Given the description of an element on the screen output the (x, y) to click on. 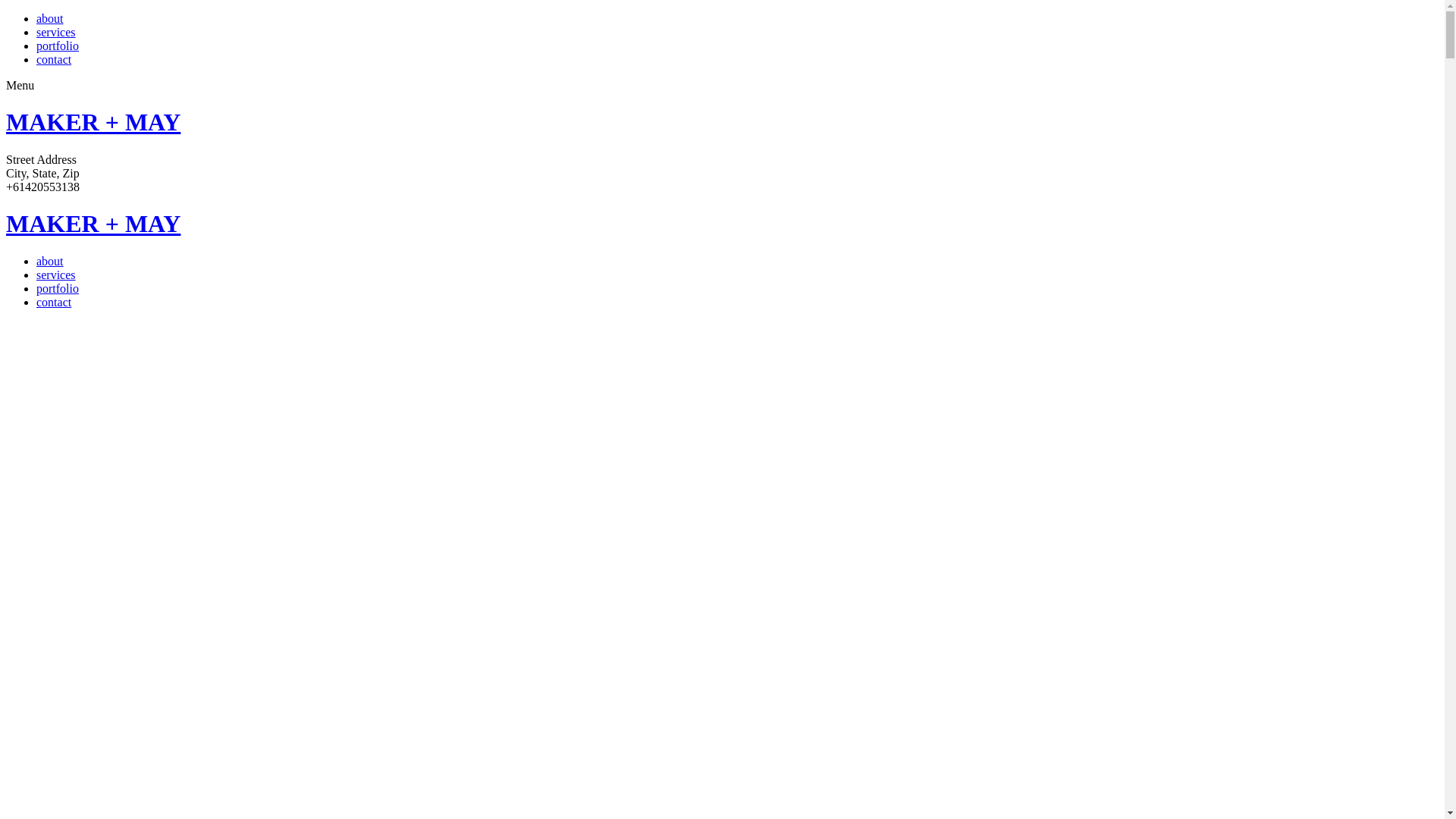
portfolio Element type: text (57, 288)
contact Element type: text (53, 301)
MAKER + MAY Element type: text (93, 121)
services Element type: text (55, 274)
about Element type: text (49, 18)
services Element type: text (55, 31)
about Element type: text (49, 260)
Menu Element type: text (20, 84)
portfolio Element type: text (57, 45)
contact Element type: text (53, 59)
MAKER + MAY Element type: text (93, 223)
